Given the description of an element on the screen output the (x, y) to click on. 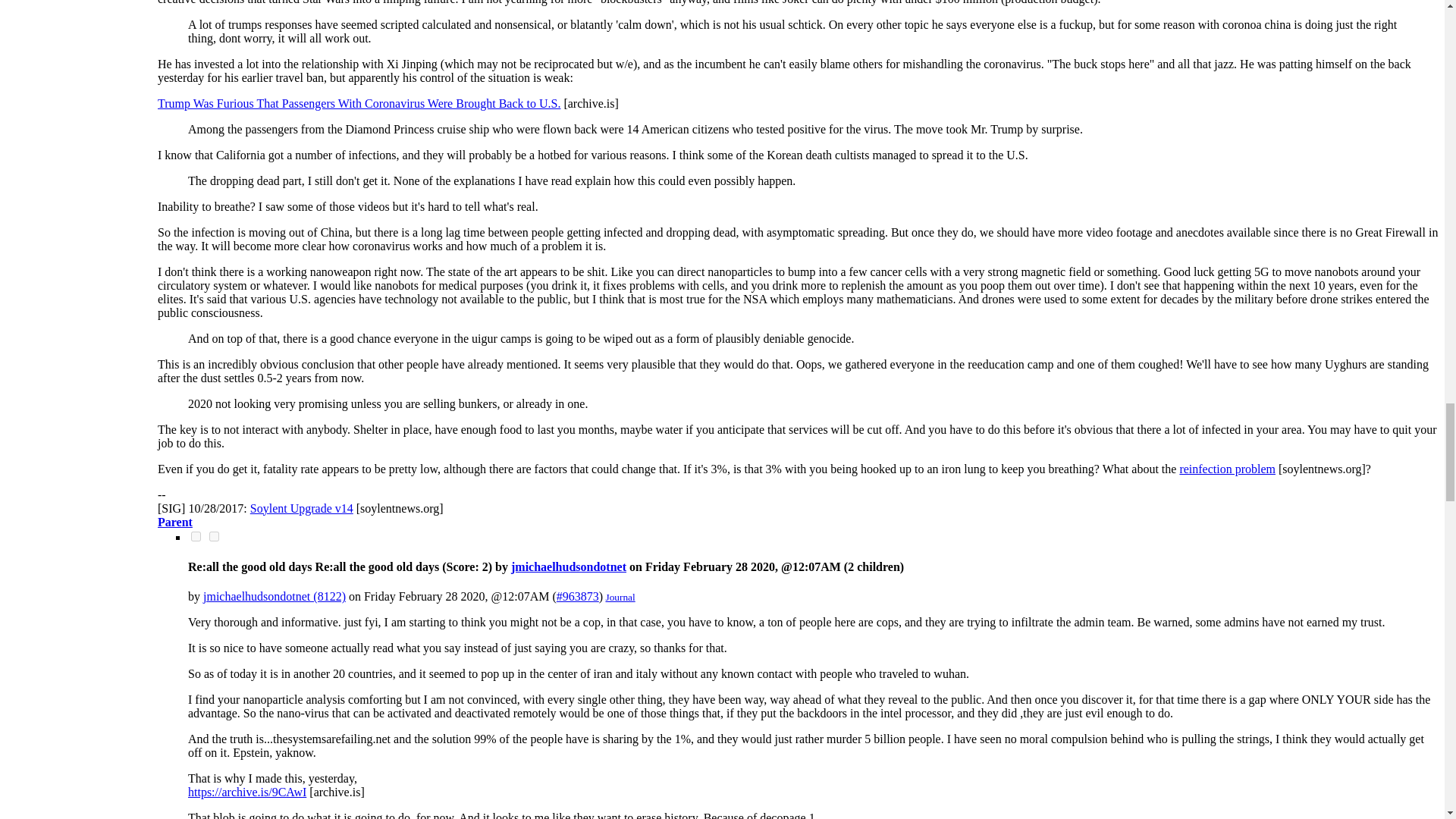
on (214, 535)
on (195, 535)
